Given the description of an element on the screen output the (x, y) to click on. 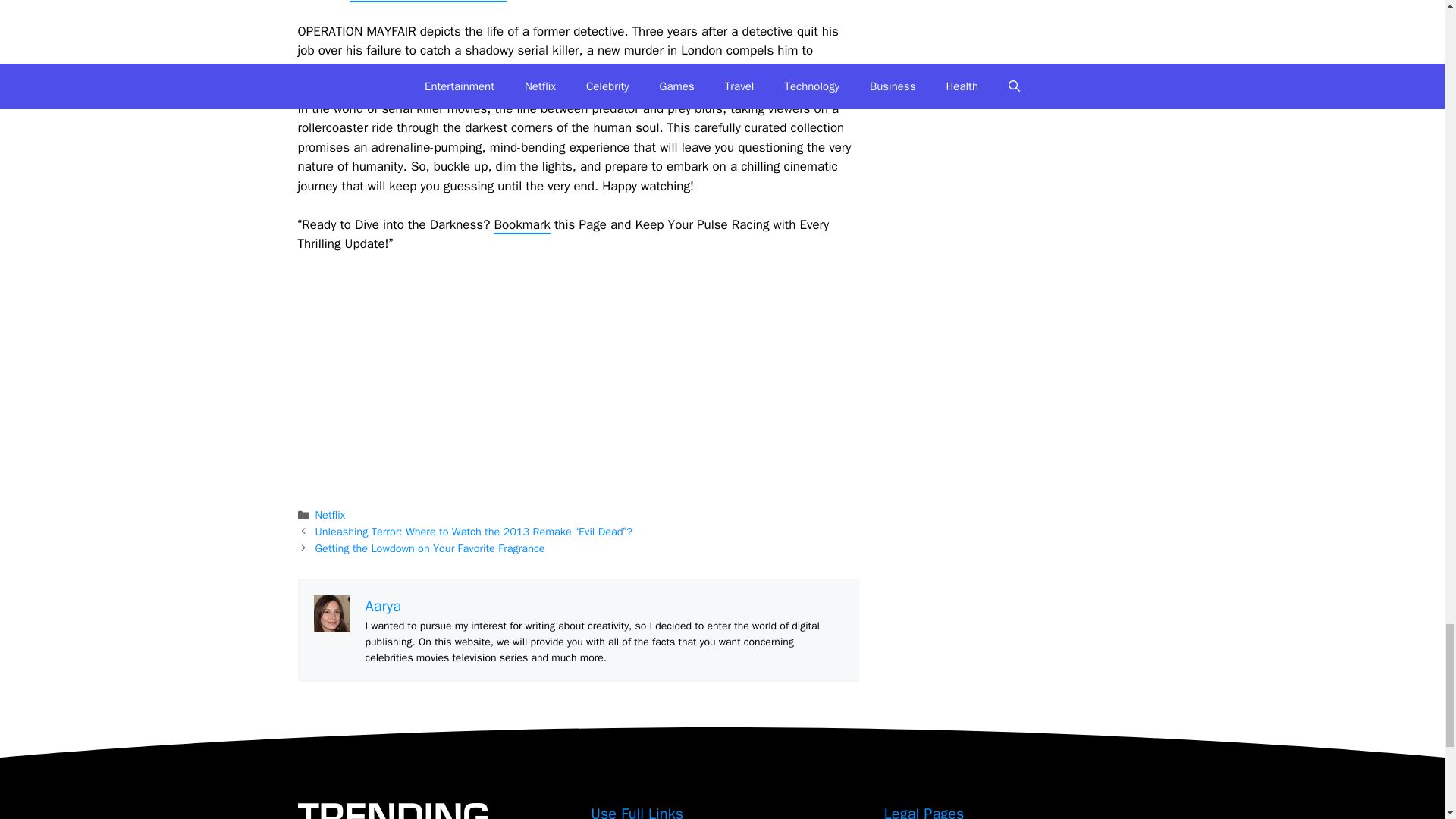
Netflix (330, 514)
Bookmark (521, 225)
Aarya (383, 606)
Trendingnewsbuzz-white (391, 811)
Getting the Lowdown on Your Favorite Fragrance (429, 548)
